Given the description of an element on the screen output the (x, y) to click on. 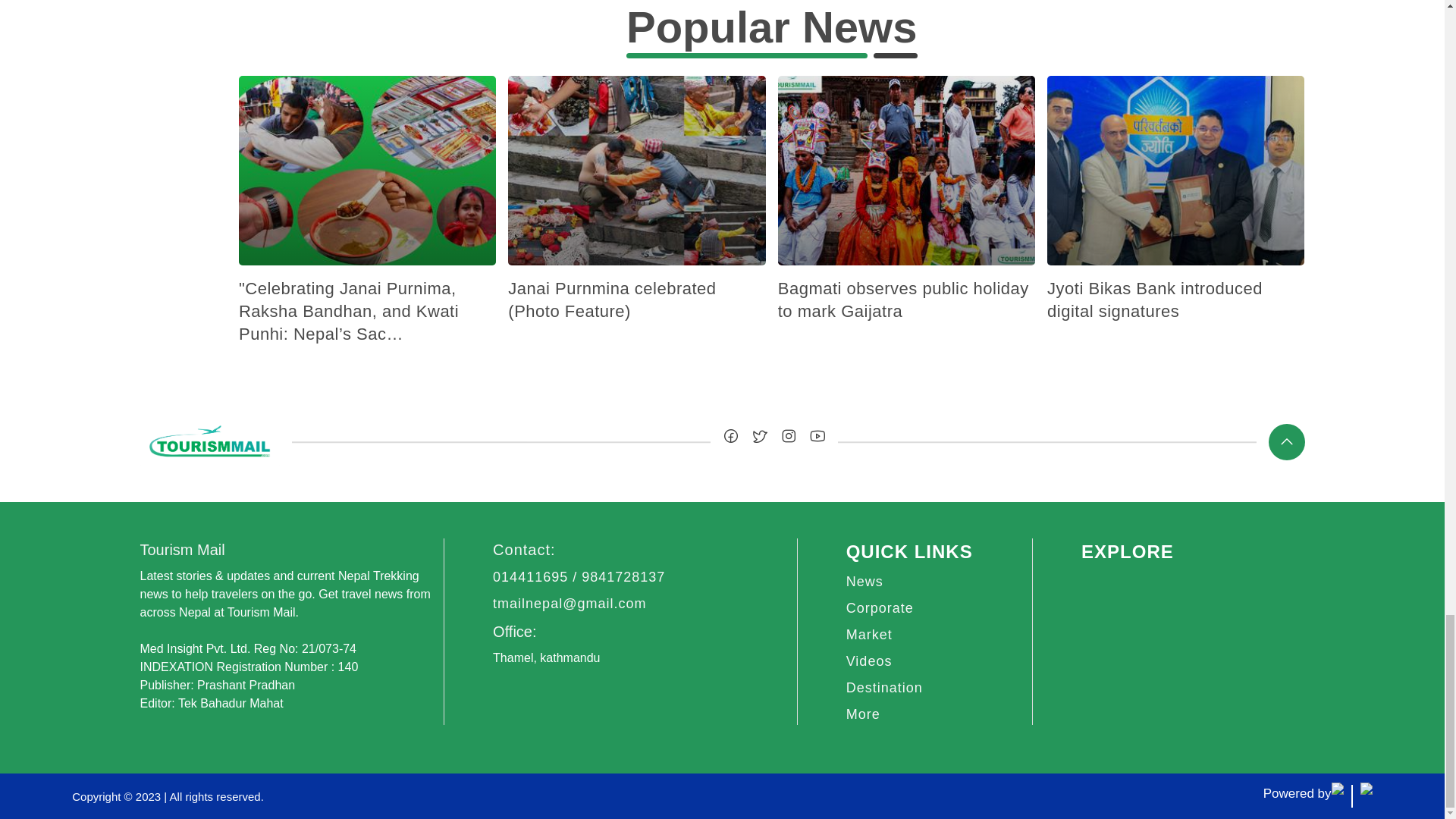
Youtube (816, 435)
Instagram (787, 435)
Facebook (730, 435)
Twitter (759, 435)
Scroll to top (1286, 442)
